Given the description of an element on the screen output the (x, y) to click on. 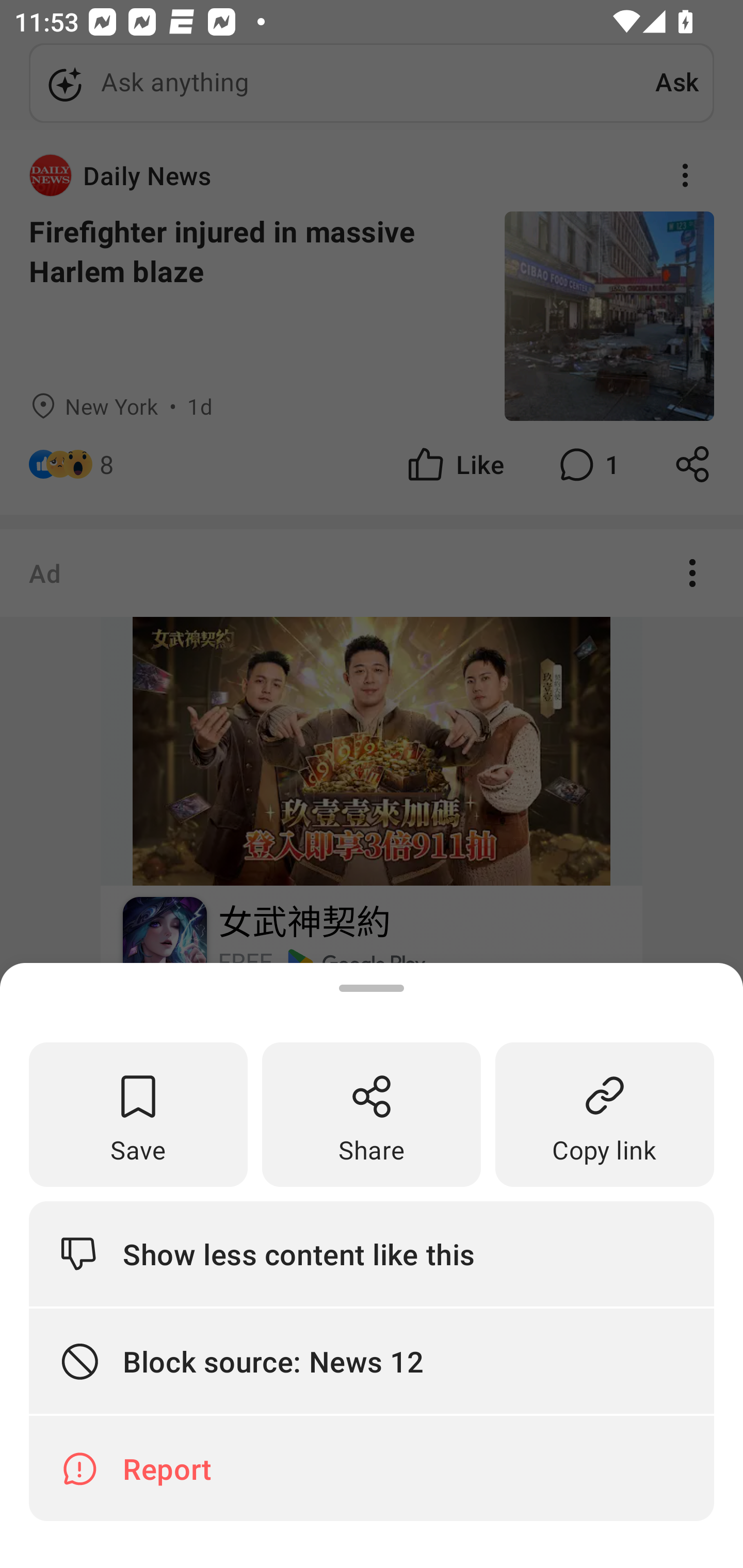
Save (137, 1114)
Share (371, 1114)
Copy link (604, 1114)
Show less content like this (371, 1253)
Block source: News 12 (371, 1361)
Report (371, 1467)
